Given the description of an element on the screen output the (x, y) to click on. 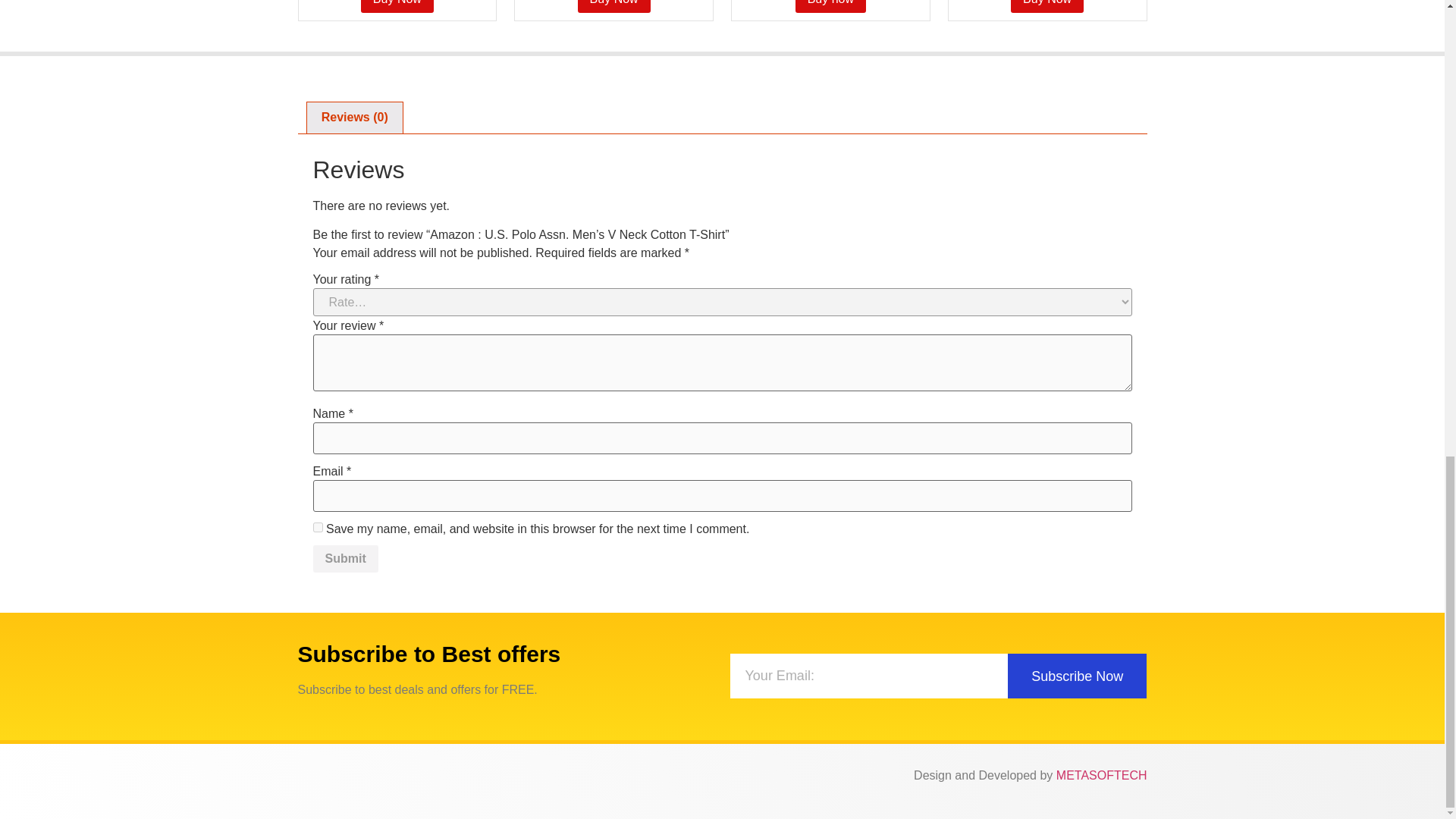
yes (317, 527)
Submit (345, 558)
